Given the description of an element on the screen output the (x, y) to click on. 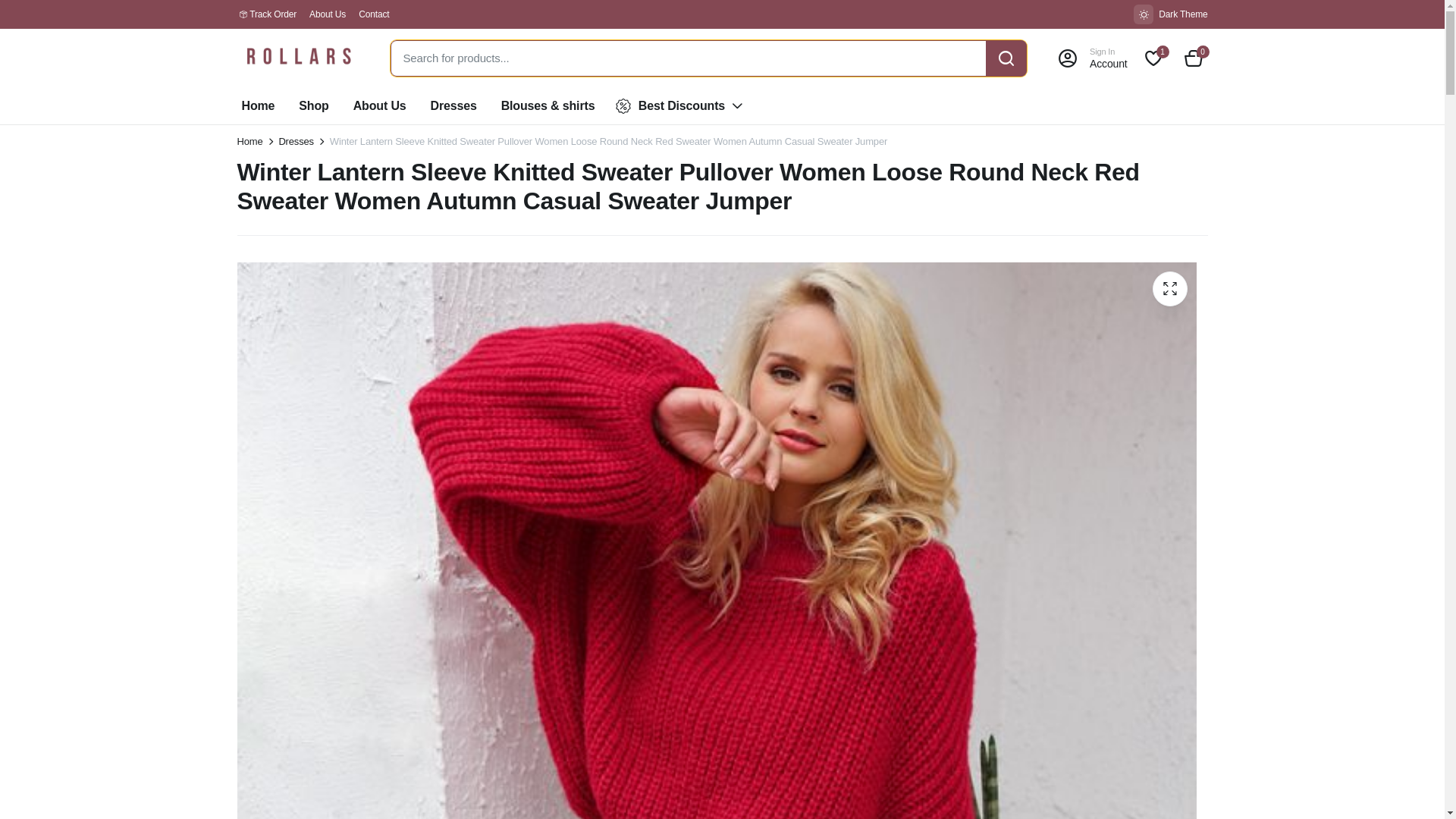
Dark Theme (1170, 14)
Track Order (272, 14)
Contact (373, 14)
About Us (327, 14)
Rollars (297, 58)
